Given the description of an element on the screen output the (x, y) to click on. 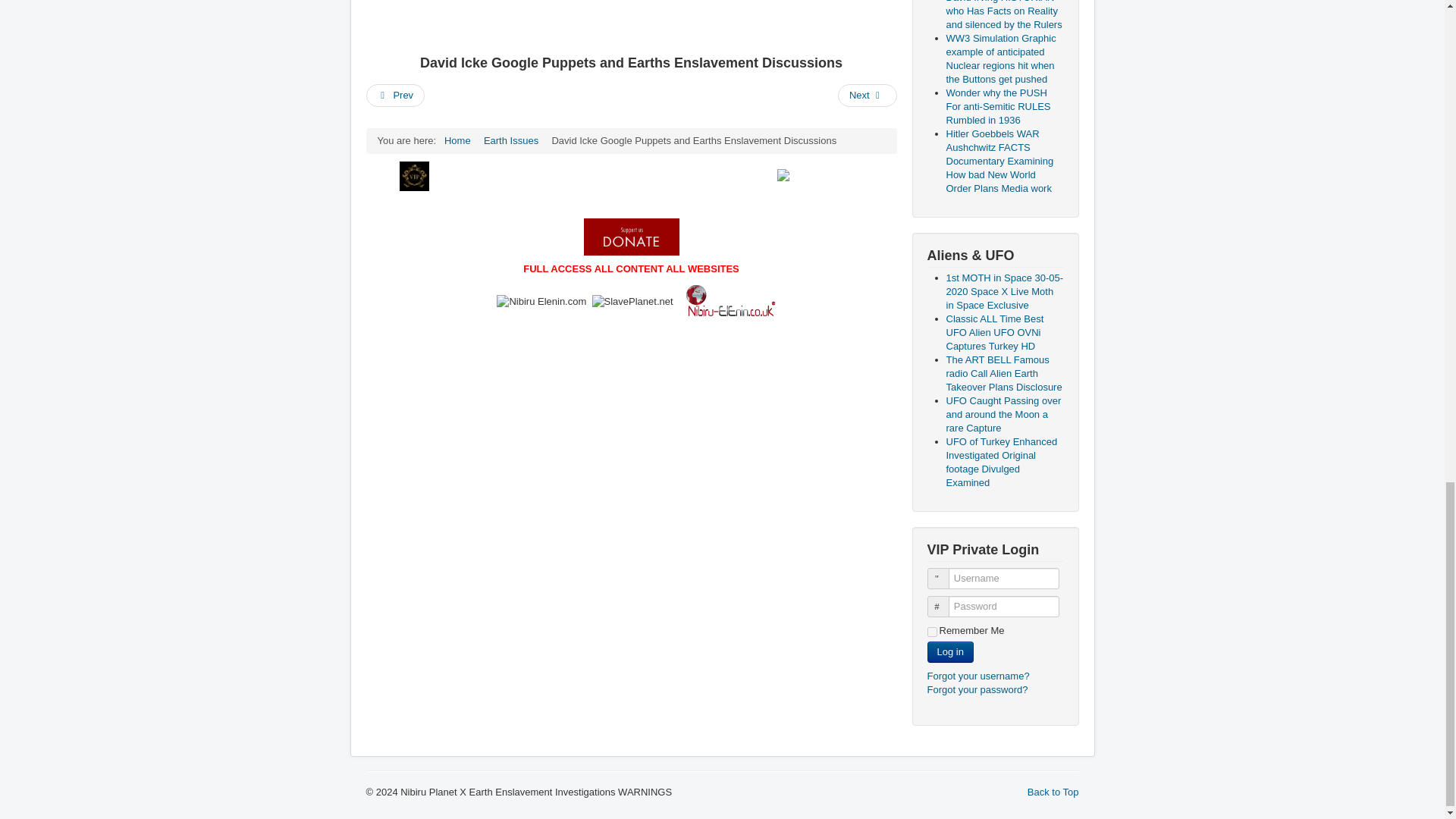
Nibiru-Elenin.com (541, 301)
VIP Membership (413, 175)
Prev (395, 95)
Earth Issues (510, 140)
Home (457, 140)
Next (867, 95)
Nibiru Elenin Co.uk (730, 301)
SlavePlanet.net (632, 301)
Learn More On VIP (820, 174)
David Icke Google Puppets and Earths Enslavement Discussions (630, 22)
